Given the description of an element on the screen output the (x, y) to click on. 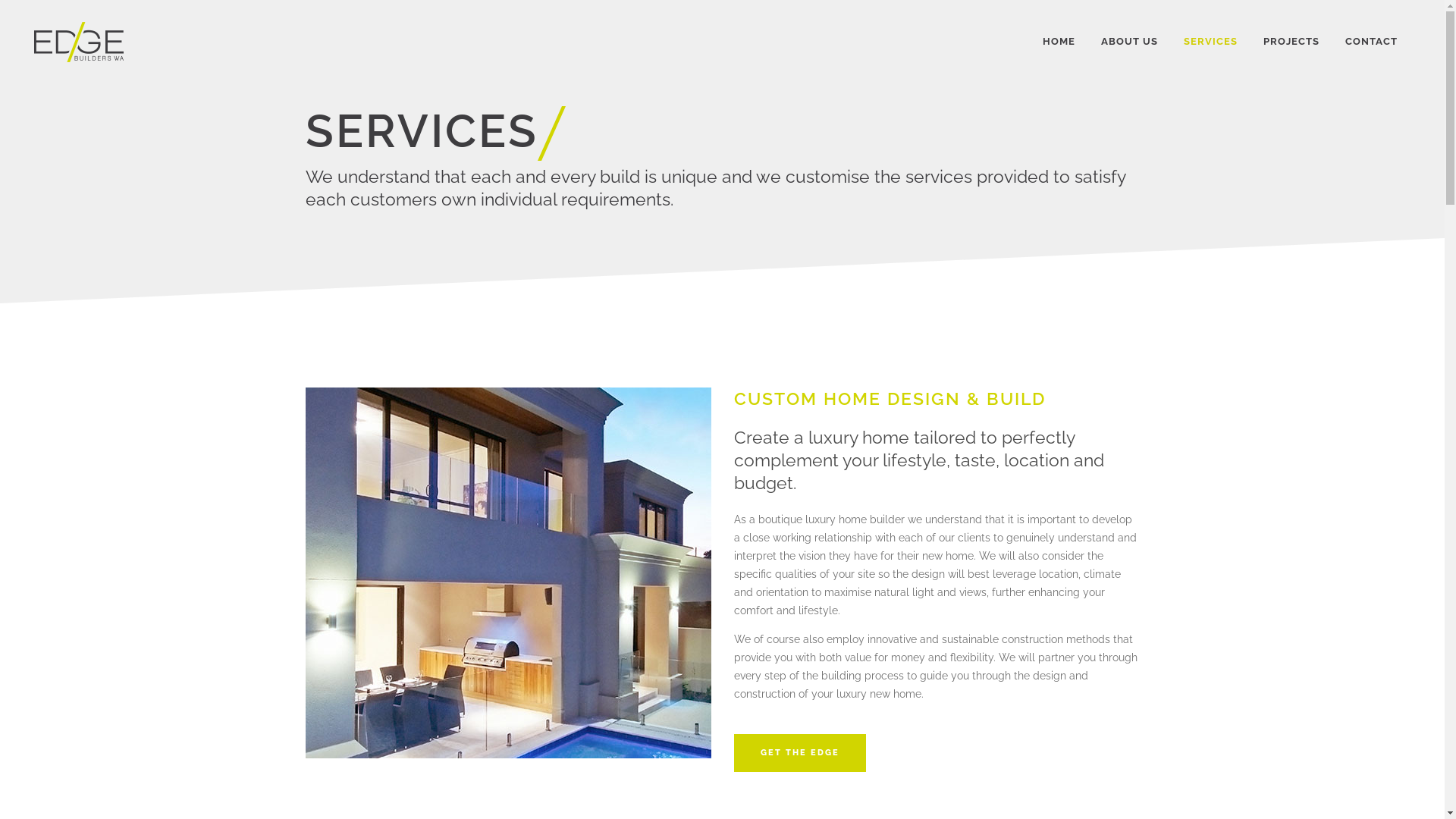
ABOUT US Element type: text (1129, 41)
Projects Element type: text (1042, 634)
GET THE EDGE Element type: text (800, 752)
Email Element type: hover (742, 646)
HOME Element type: text (1058, 41)
Services Element type: text (1042, 612)
CONTACT Element type: text (1371, 41)
info@edgebuilderswa.com.au Element type: text (823, 646)
Phone Element type: hover (741, 667)
Home Element type: text (1042, 568)
Axiom Design Partners Element type: text (1091, 798)
SERVICES Element type: text (1210, 41)
PROJECTS Element type: text (1291, 41)
About Us Element type: text (1042, 590)
Contact Us Element type: text (1042, 656)
Terms of Service & Privacy Policy Element type: text (573, 798)
